Given the description of an element on the screen output the (x, y) to click on. 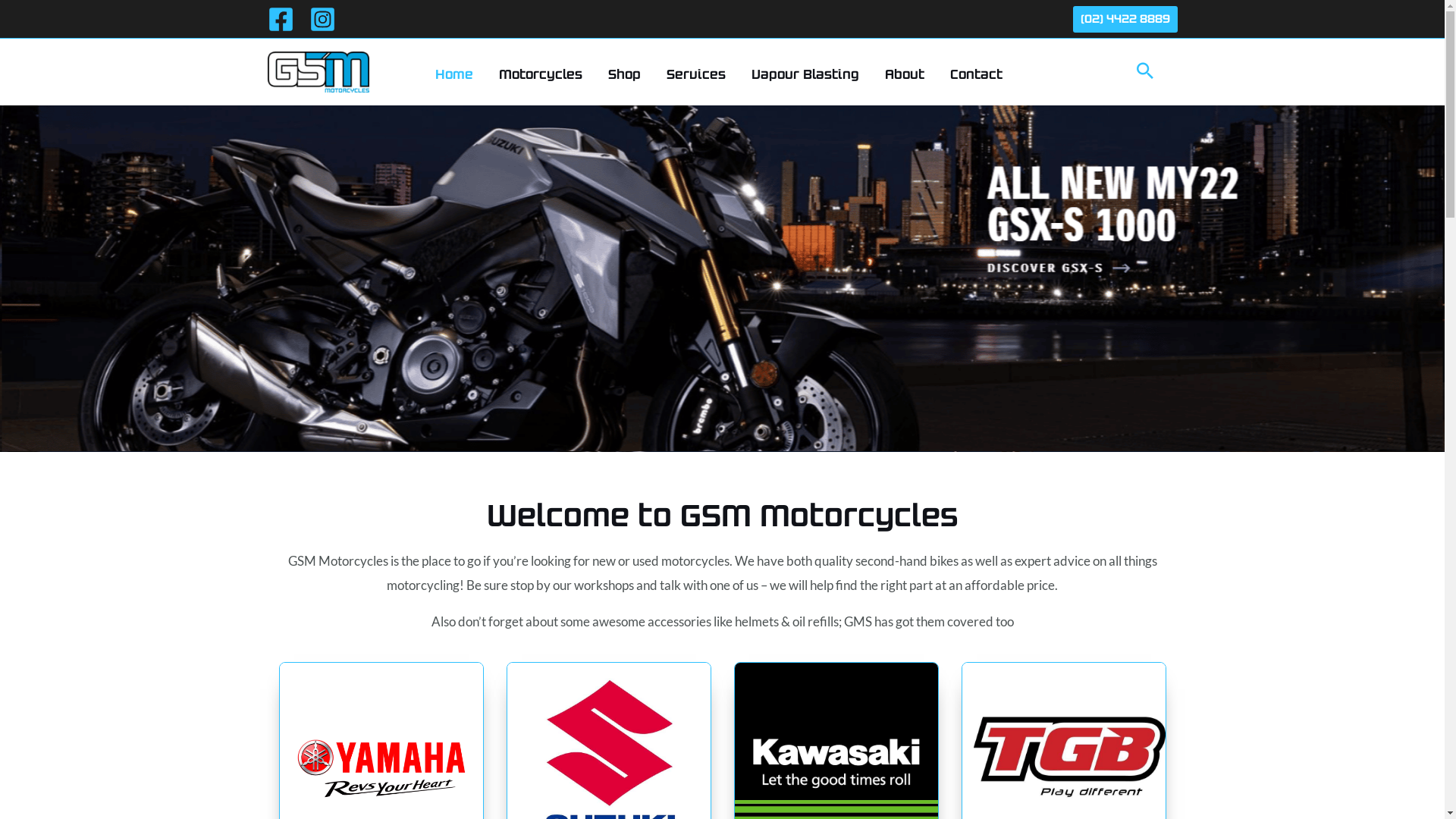
About Element type: text (904, 74)
Home Element type: text (453, 74)
(02) 4422 8889 Element type: text (1124, 19)
Services Element type: text (695, 74)
Contact Element type: text (976, 74)
Motorcycles Element type: text (539, 74)
Vapour Blasting Element type: text (805, 74)
Shop Element type: text (623, 74)
